Given the description of an element on the screen output the (x, y) to click on. 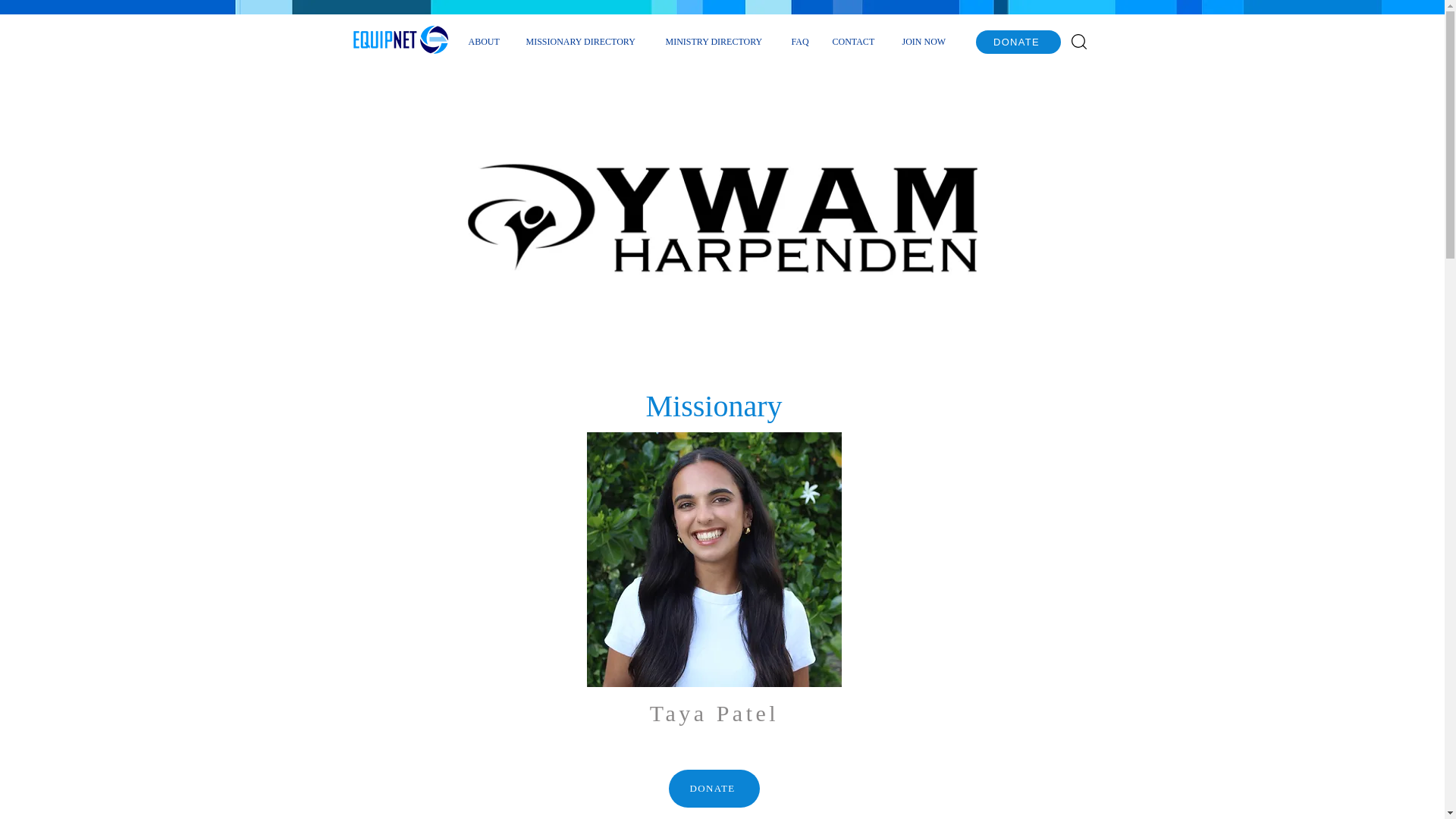
CONTACT (855, 41)
DONATE (714, 788)
MISSIONARY DIRECTORY (583, 41)
ABOUT (485, 41)
DONATE (1017, 42)
JOIN NOW (925, 41)
FAQ (799, 41)
MINISTRY DIRECTORY (715, 41)
Taya Patel (713, 559)
